Given the description of an element on the screen output the (x, y) to click on. 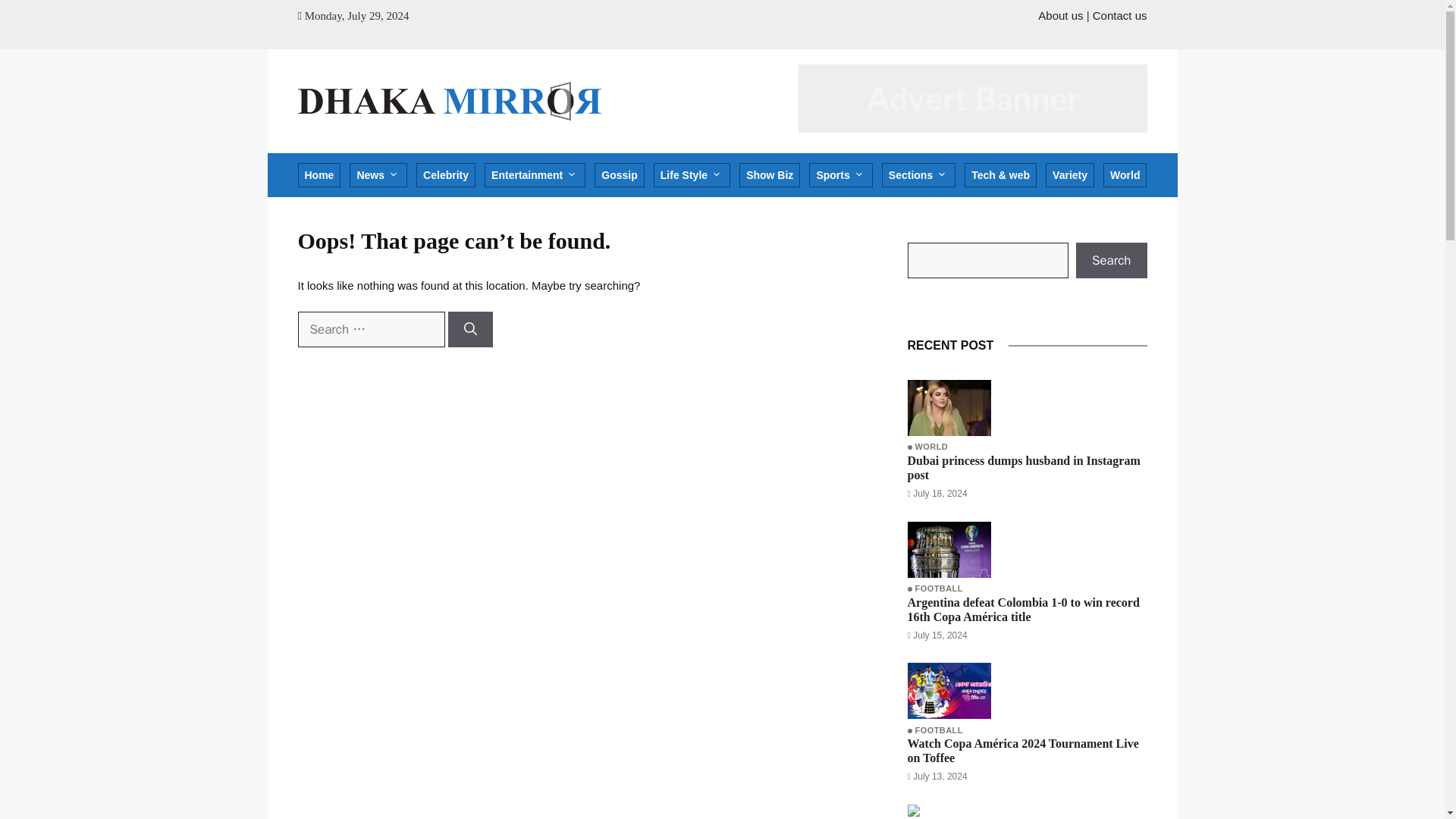
Show Biz (769, 174)
Search for: (370, 329)
Life Style (691, 174)
About us (1060, 15)
Home (318, 174)
Contact us (1120, 15)
Sections (918, 174)
Gossip (618, 174)
Entertainment (534, 174)
News (378, 174)
Celebrity (446, 174)
Sports (840, 174)
